Given the description of an element on the screen output the (x, y) to click on. 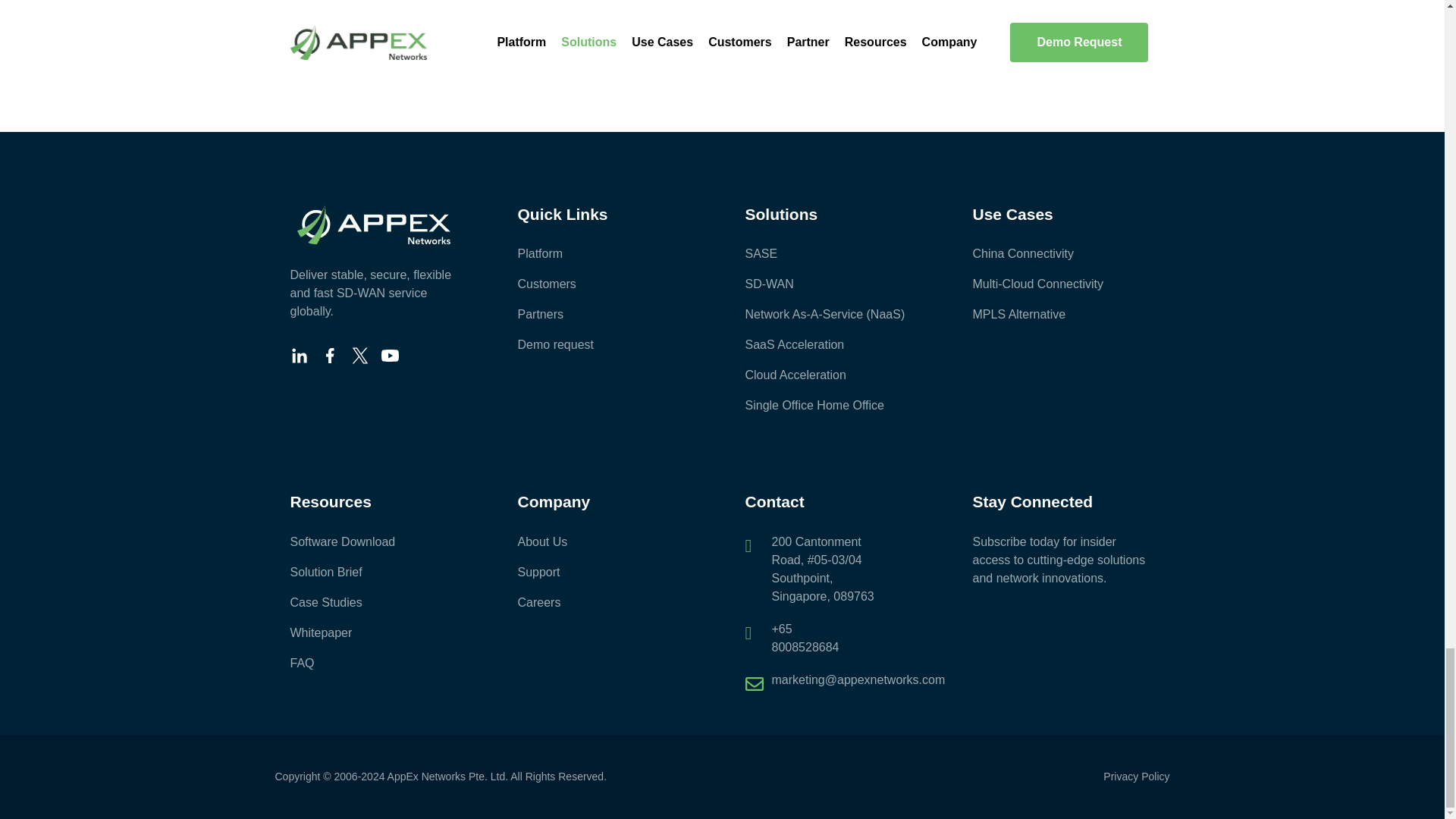
Download Now (721, 35)
Platform (607, 253)
Customers (607, 284)
Download Now (1024, 35)
Download Now (418, 35)
Partners (607, 314)
